Given the description of an element on the screen output the (x, y) to click on. 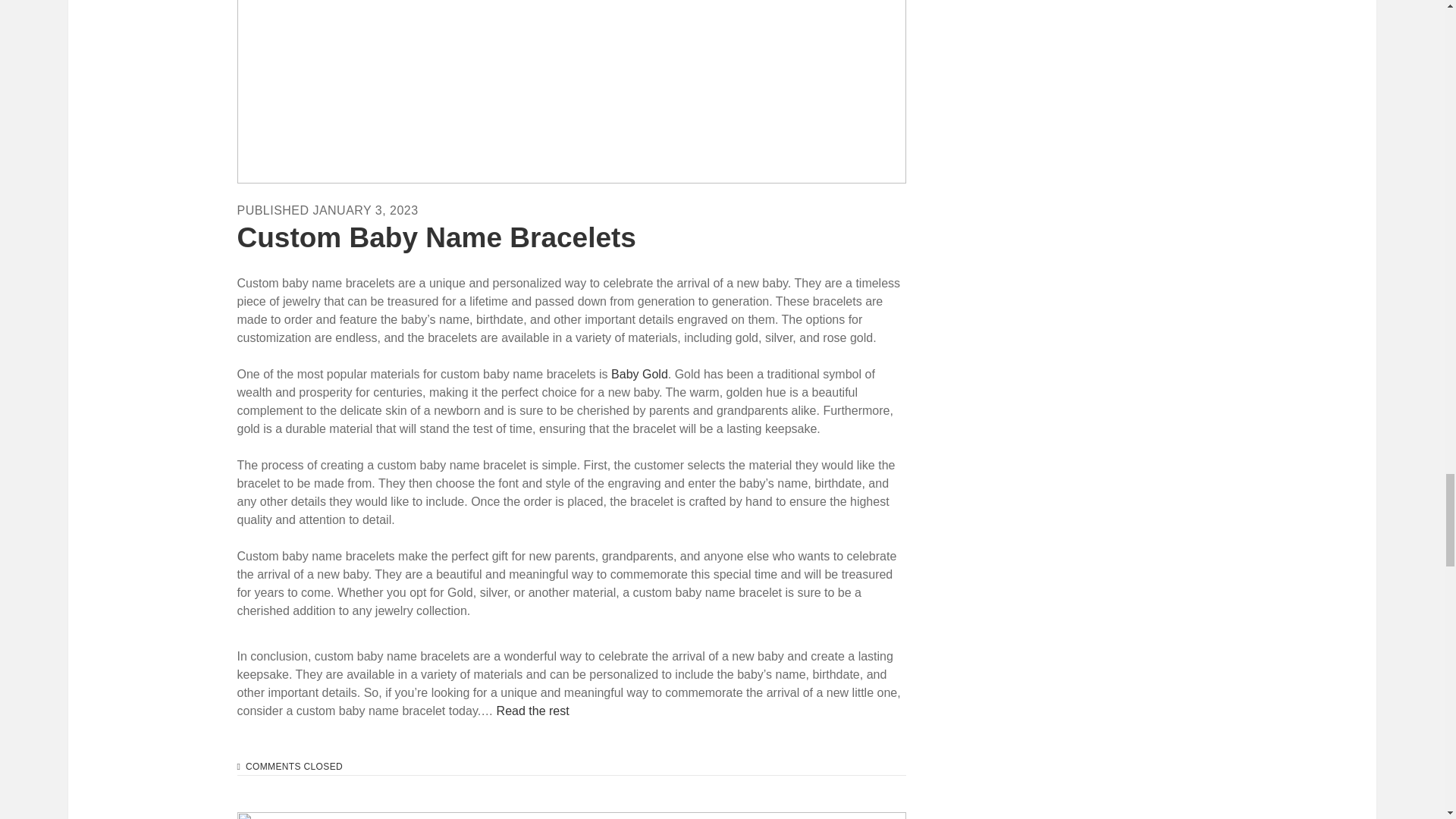
Custom Baby Name Bracelets (570, 91)
comment icon (237, 766)
Read the rest (532, 710)
Baby Gold (639, 373)
Custom Baby Name Bracelets (434, 237)
